Given the description of an element on the screen output the (x, y) to click on. 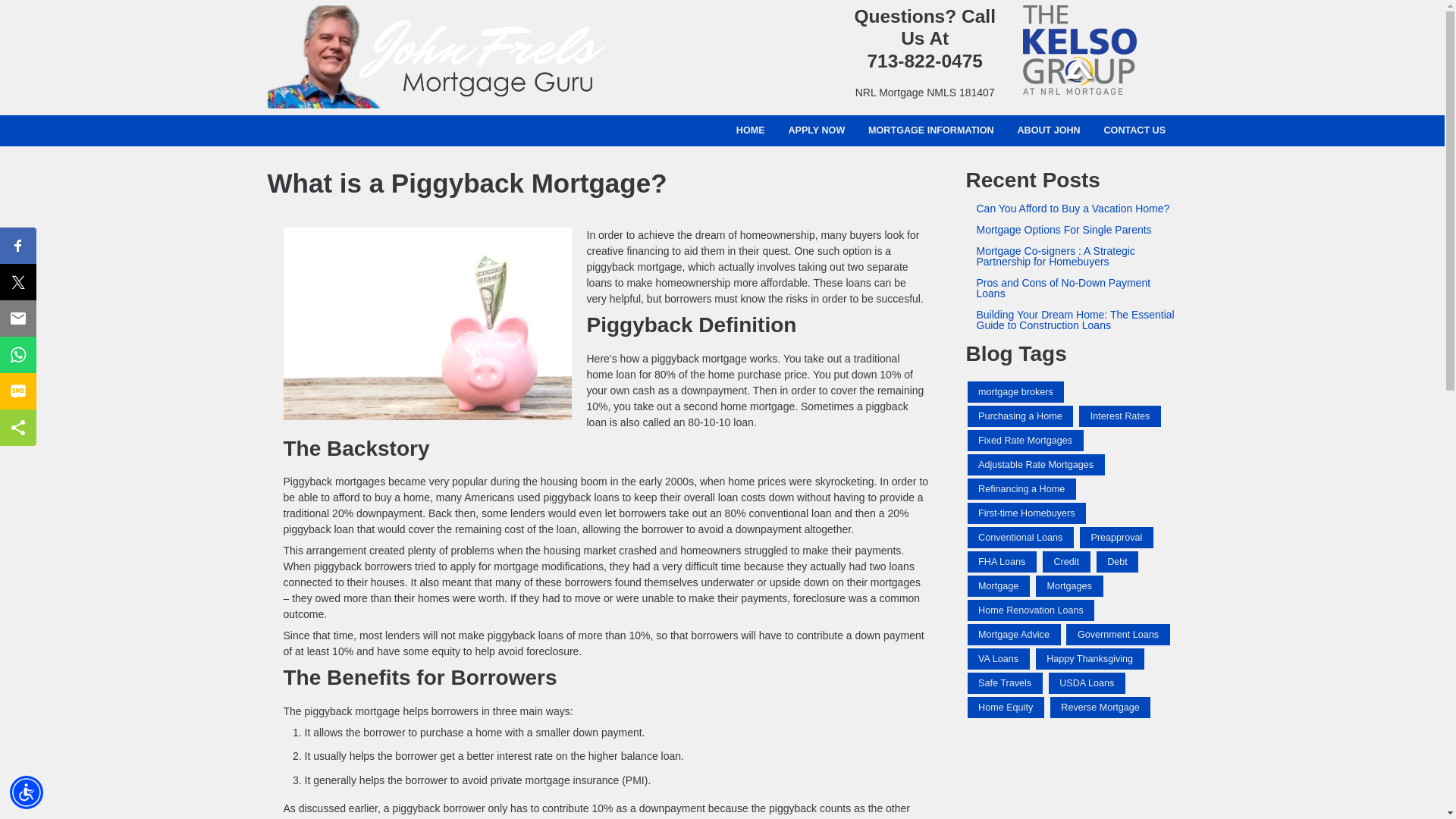
Preapproval (1116, 537)
Refinancing a Home (1021, 488)
Accessibility Menu (26, 792)
Adjustable Rate Mortgages (1036, 464)
Interest Rates (1119, 415)
Conventional Loans (1021, 537)
HOME (749, 130)
ABOUT JOHN (1049, 130)
VA Loans (998, 658)
Mortgage Co-signers : A Strategic Partnership for Homebuyers (1071, 255)
Debt (1117, 561)
Mortgage Advice (1014, 634)
APPLY NOW (816, 130)
MORTGAGE INFORMATION (931, 130)
